Given the description of an element on the screen output the (x, y) to click on. 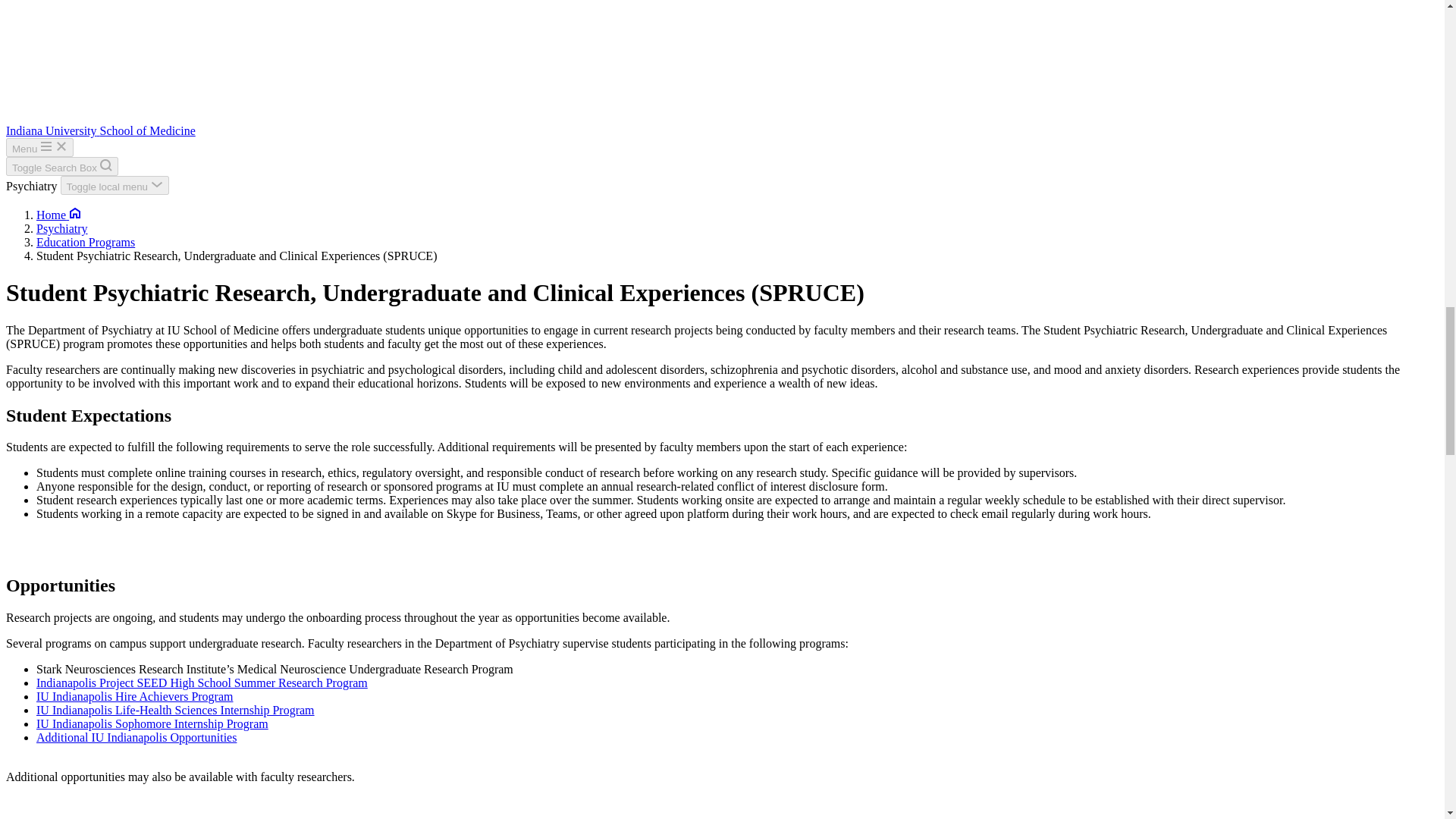
IU Indianapolis Hire Achievers Program (134, 696)
Additional IU Indianapolis Opportunities (135, 744)
Education Programs (85, 241)
Home (58, 214)
IU Indianapolis Life-Health Sciences Internship Program (175, 709)
Psychiatry (61, 228)
Menu (39, 147)
IU Indianapolis Sophomore Internship Program (151, 723)
Toggle local menu (114, 185)
